Given the description of an element on the screen output the (x, y) to click on. 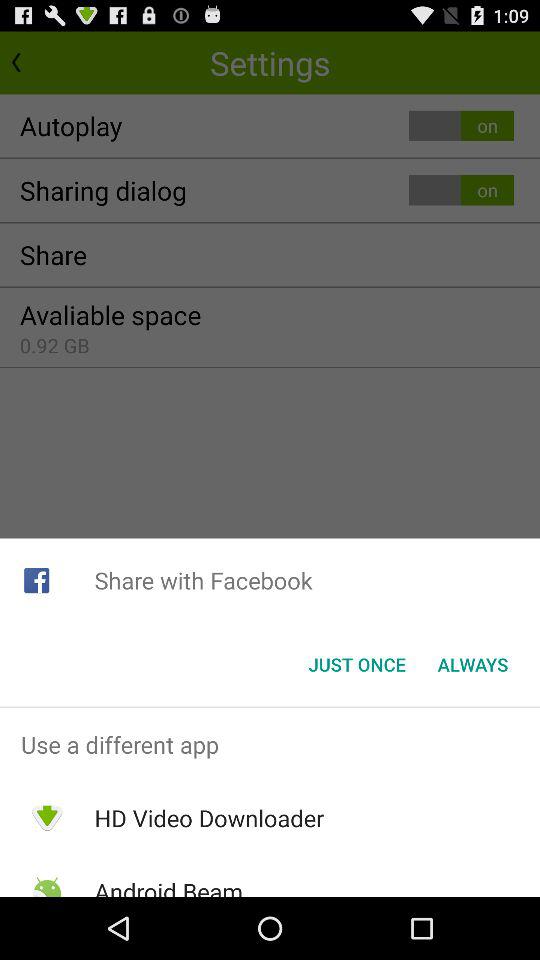
tap the icon above android beam icon (209, 817)
